Given the description of an element on the screen output the (x, y) to click on. 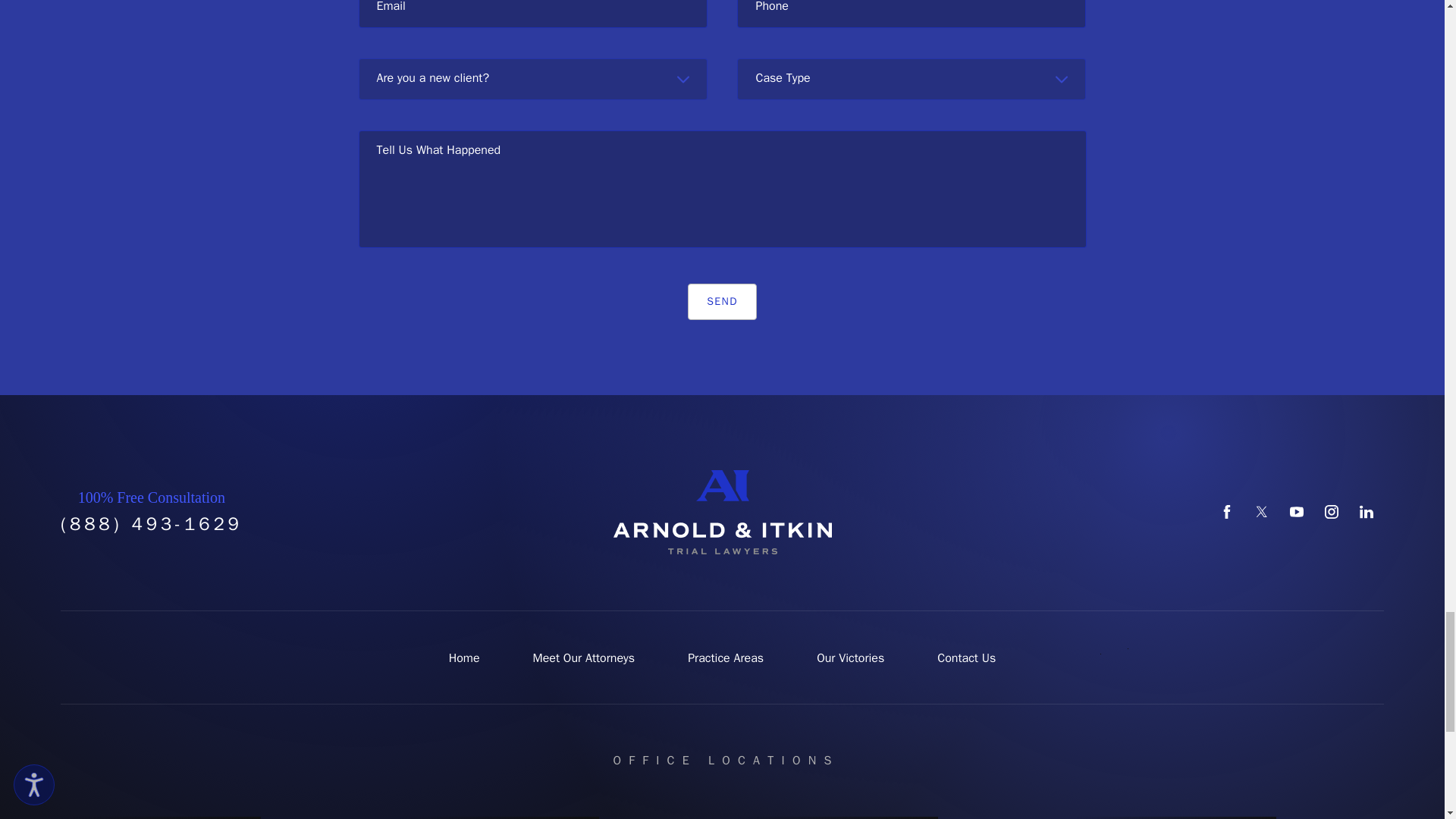
Twitter (1261, 511)
Instagram (1331, 511)
LinkedIn (1366, 511)
Facebook (1227, 511)
YouTube (1296, 511)
